Given the description of an element on the screen output the (x, y) to click on. 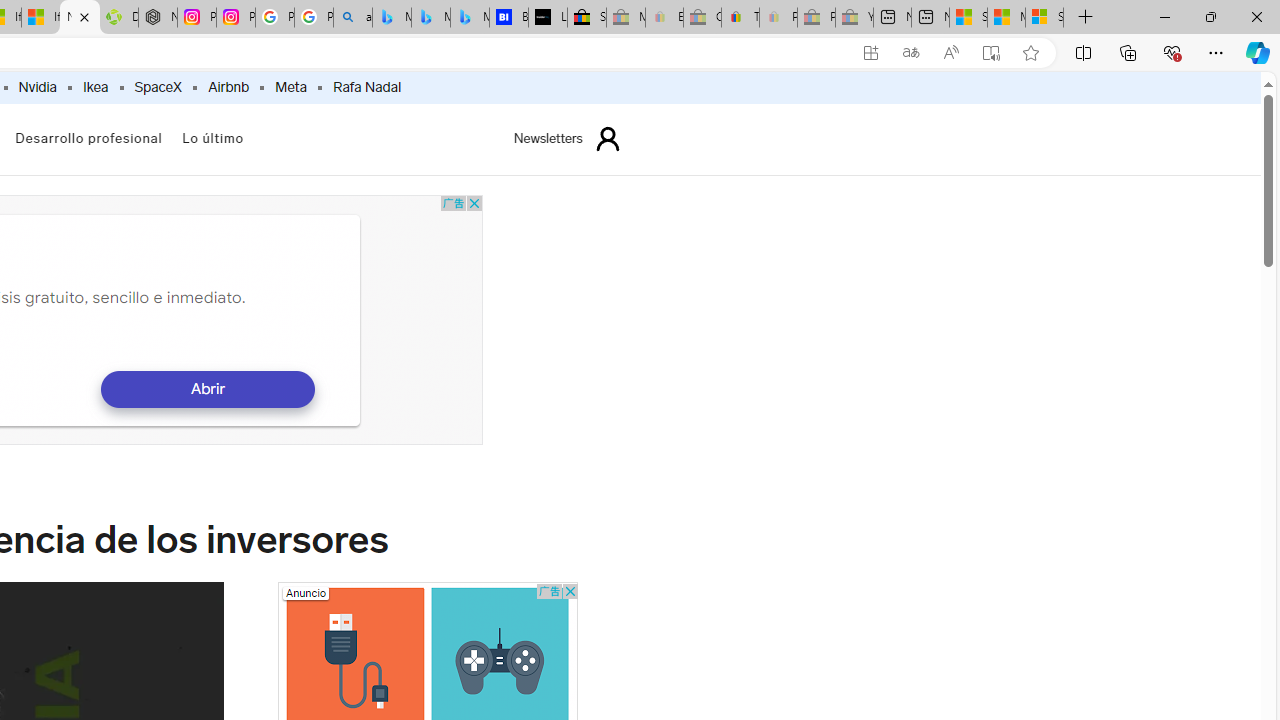
Meta (291, 88)
Nvidia (37, 88)
Show translate options (910, 53)
Nvidia va a poner a prueba la paciencia de los inversores (79, 17)
Newsletters (547, 138)
Shanghai, China hourly forecast | Microsoft Weather (967, 17)
Descarga Driver Updater (118, 17)
Threats and offensive language policy | eBay (740, 17)
